Given the description of an element on the screen output the (x, y) to click on. 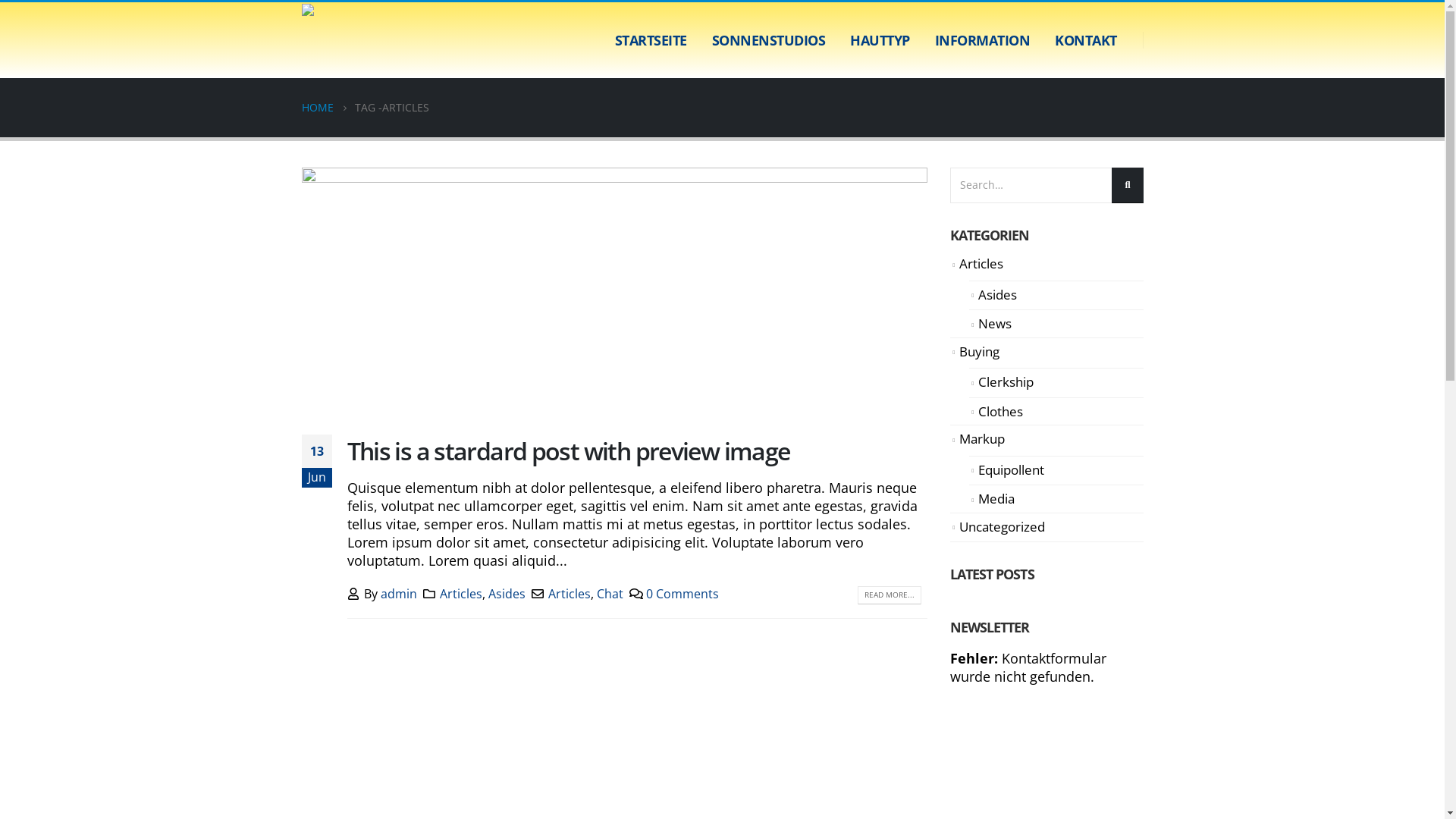
Asides Element type: text (506, 593)
SONNENSTUDIOS Element type: text (768, 40)
News Element type: text (994, 323)
STARTSEITE Element type: text (650, 40)
Markup Element type: text (981, 438)
Buying Element type: text (979, 351)
KONTAKT Element type: text (1085, 40)
Media Element type: text (996, 498)
INFORMATION Element type: text (981, 40)
READ MORE... Element type: text (888, 594)
HAUTTYP Element type: text (879, 40)
0 Comments Element type: text (682, 593)
admin Element type: text (398, 593)
Articles Element type: text (460, 593)
Chat Element type: text (609, 593)
Articles Element type: text (569, 593)
Clerkship Element type: text (1005, 381)
Asides Element type: text (997, 294)
HOME Element type: text (317, 107)
Clothes Element type: text (1000, 411)
Articles Element type: text (981, 263)
Equipollent Element type: text (1011, 469)
Uncategorized Element type: text (1001, 526)
Solarium Luzern - 3 x mal Solarium Element type: hover (350, 39)
This is a stardard post with preview image Element type: text (568, 450)
